Given the description of an element on the screen output the (x, y) to click on. 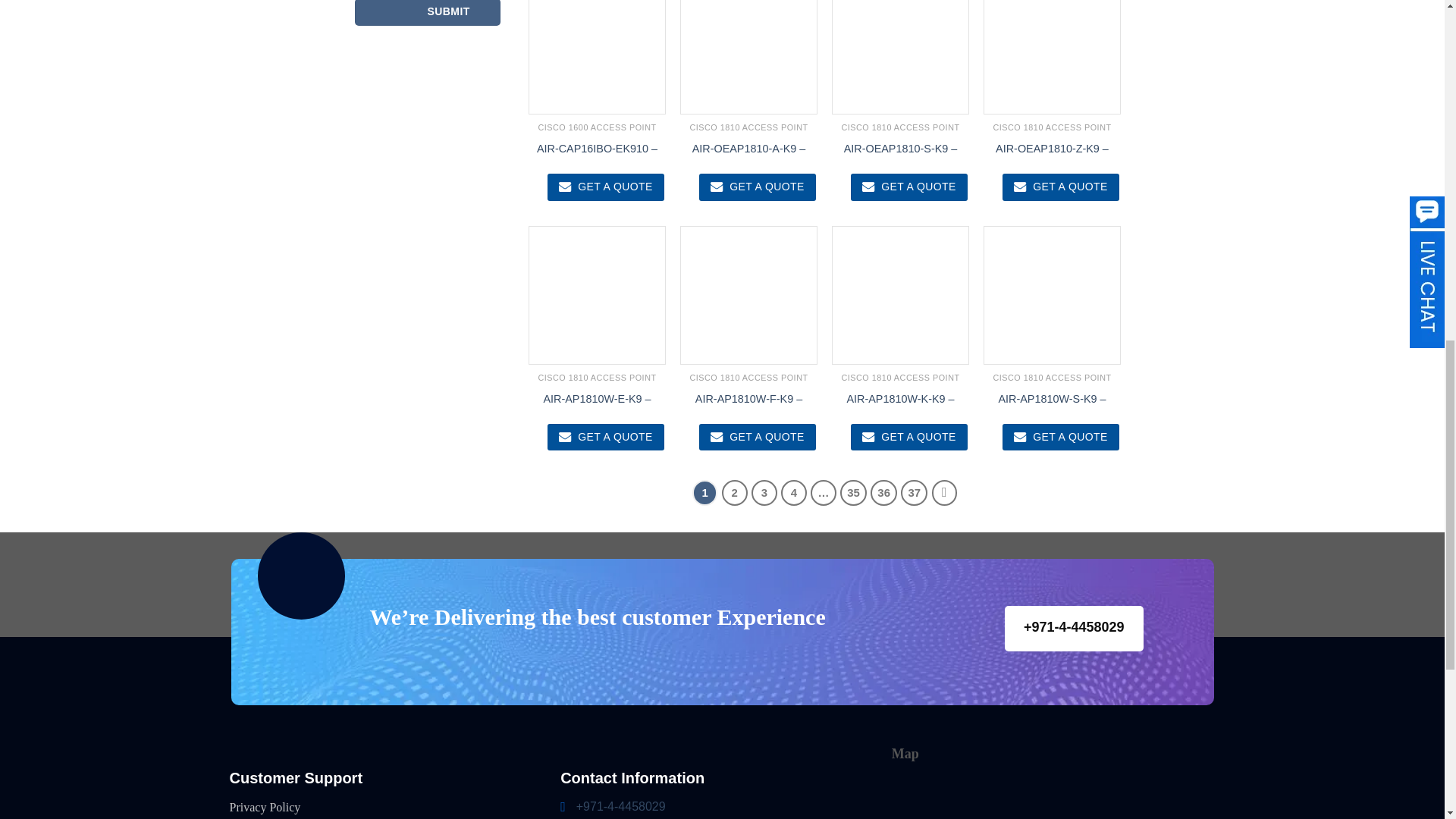
Submit (427, 12)
